Given the description of an element on the screen output the (x, y) to click on. 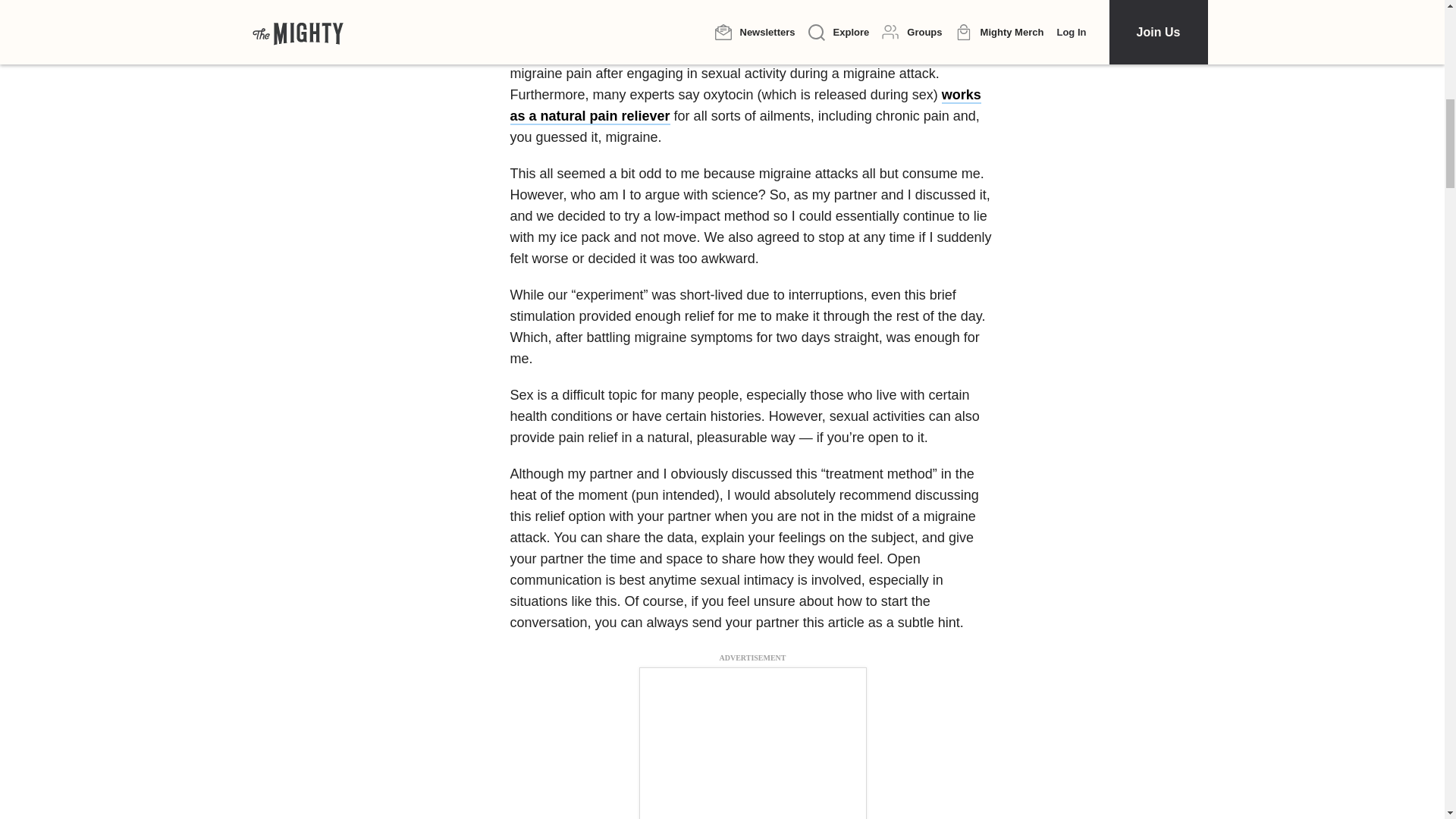
one research study (855, 31)
works as a natural pain reliever (744, 105)
